Given the description of an element on the screen output the (x, y) to click on. 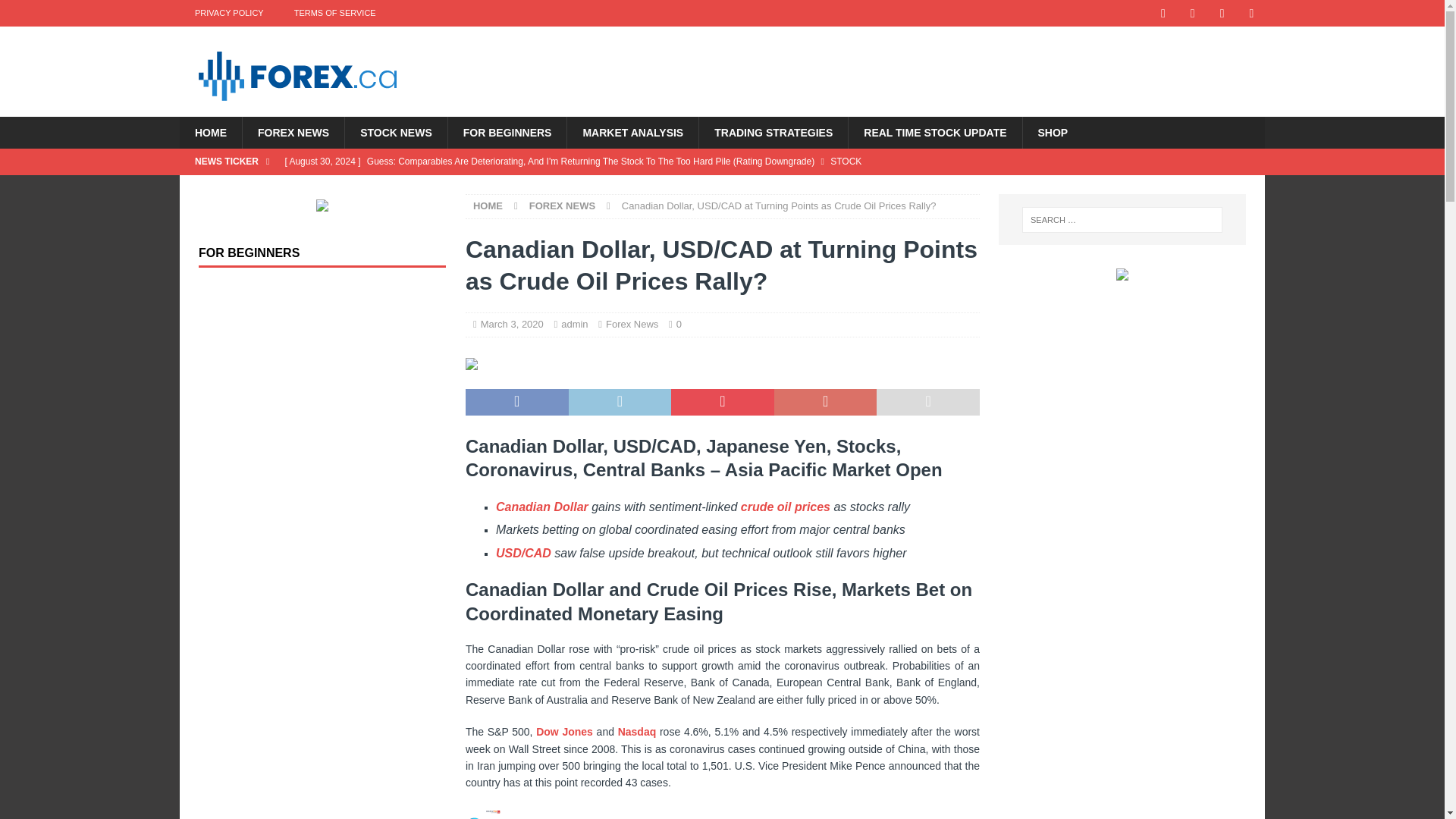
FOR BEGINNERS (506, 132)
Canadian Dollar (542, 506)
crude oil prices (785, 506)
March 3, 2020 (511, 324)
FOREX NEWS (562, 205)
HOME (487, 205)
HOME (210, 132)
FOREX NEWS (292, 132)
admin (574, 324)
crude oil prices (785, 506)
